Given the description of an element on the screen output the (x, y) to click on. 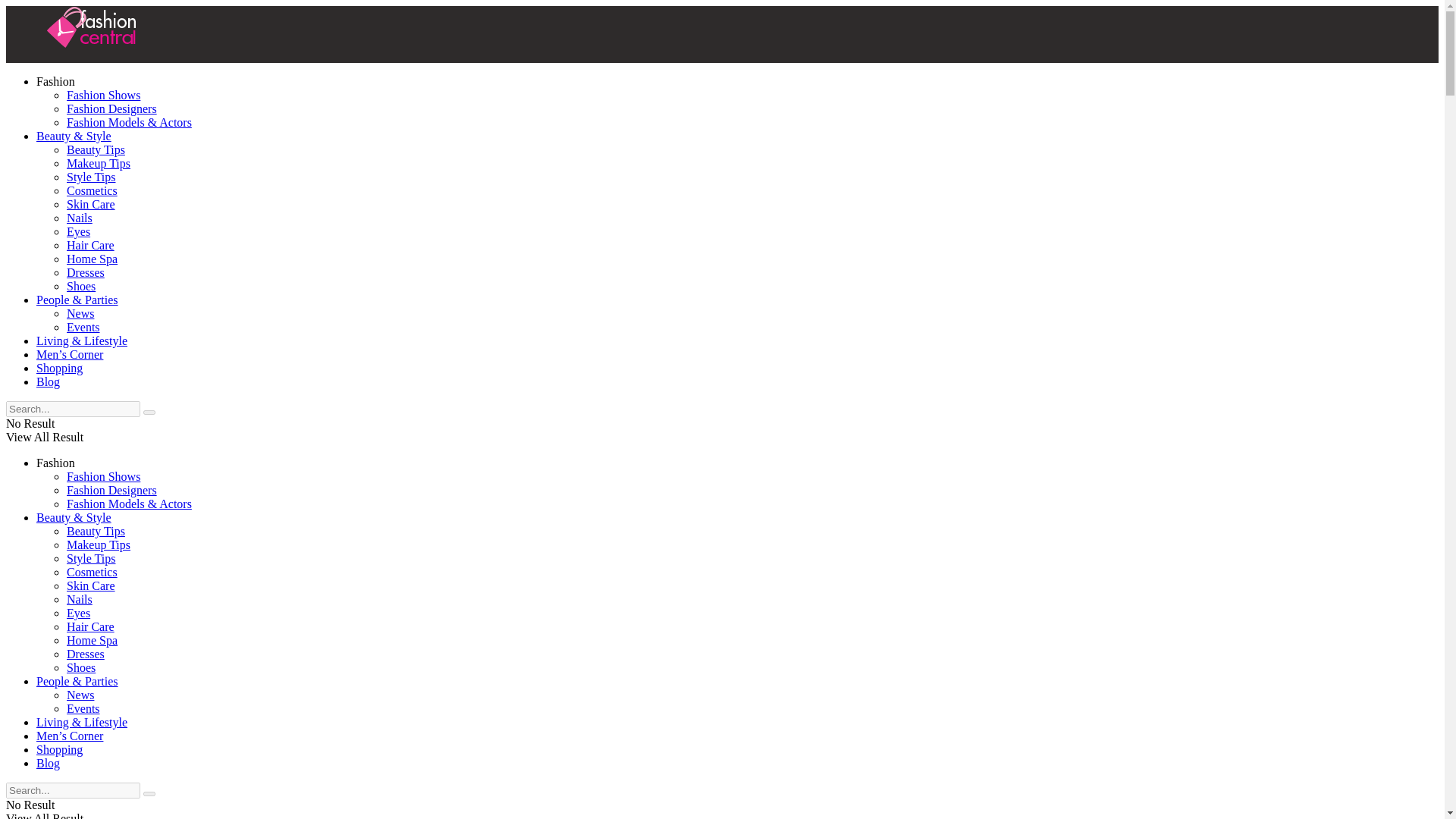
Fashion (55, 81)
Skin Care (90, 585)
Cosmetics (91, 190)
Cosmetics (91, 571)
Fashion Shows (102, 476)
Skin Care (90, 204)
Nails (79, 217)
Blog (47, 381)
Eyes (78, 231)
Style Tips (90, 558)
